Given the description of an element on the screen output the (x, y) to click on. 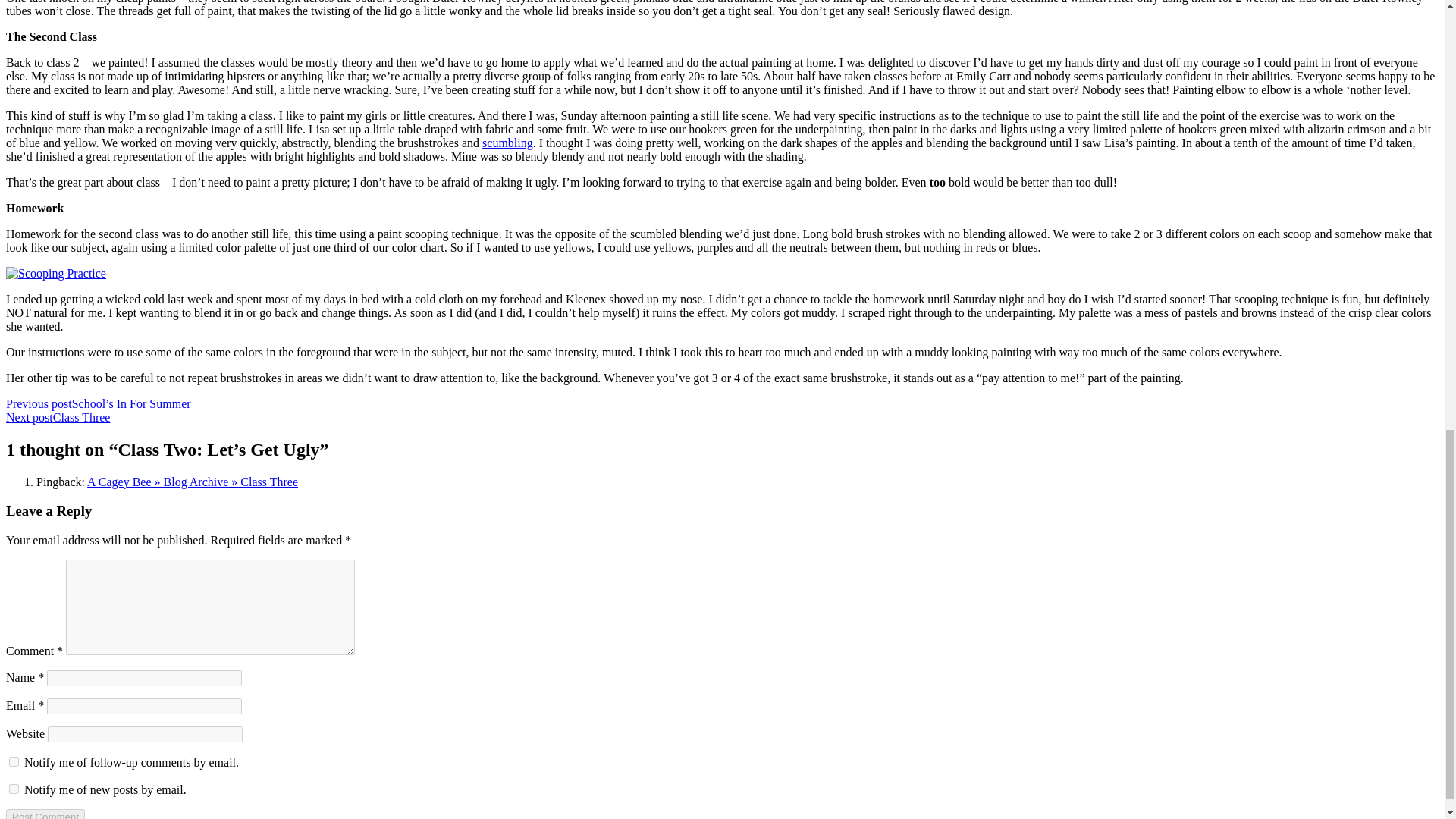
scumbling (506, 142)
scumbling (506, 142)
subscribe (13, 788)
Next postClass Three (57, 417)
subscribe (13, 761)
Scooping Practice by acageybee, on Flickr (55, 273)
